Given the description of an element on the screen output the (x, y) to click on. 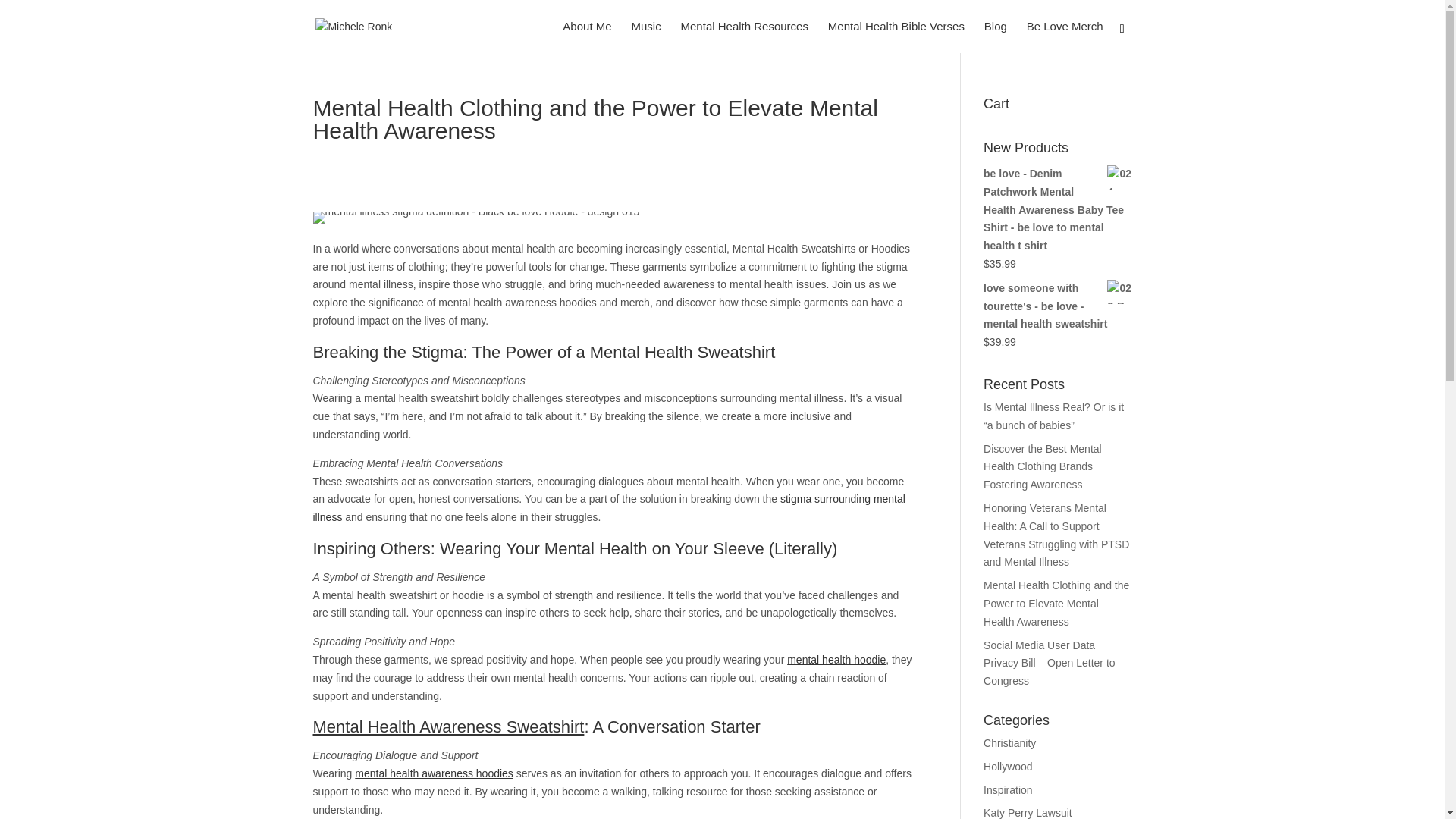
Be Love Merch (1064, 37)
Katy Perry Lawsuit (1027, 812)
Mental Health Resources (744, 37)
Music (645, 37)
mental health hoodie (836, 659)
About Me (586, 37)
Hollywood (1008, 766)
Mental Health Awareness Sweatshirt (448, 726)
Inspiration (1008, 789)
mental health awareness hoodies (434, 773)
